Given the description of an element on the screen output the (x, y) to click on. 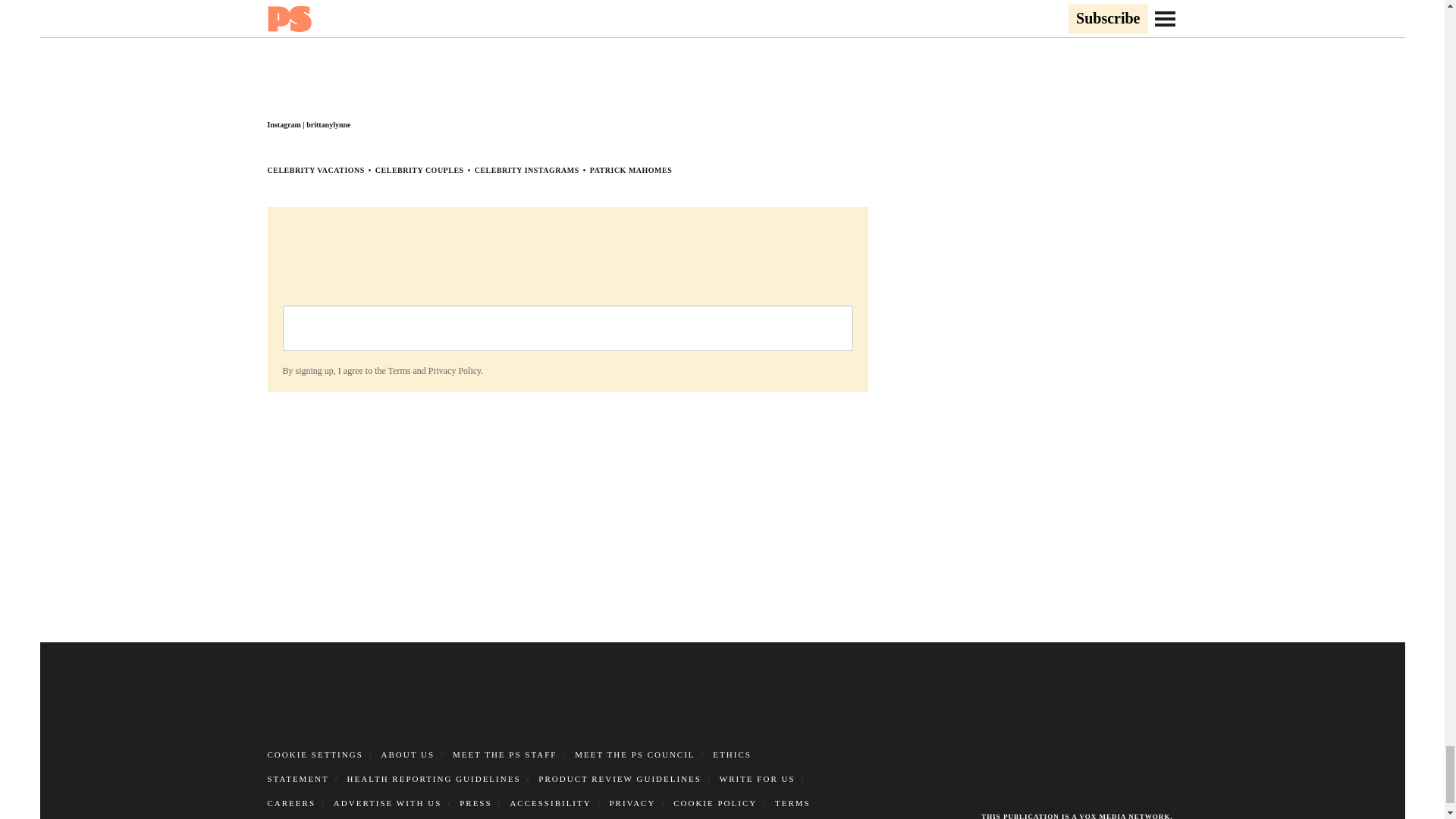
Privacy Policy. (455, 370)
CELEBRITY COUPLES (419, 170)
Terms (399, 370)
PATRICK MAHOMES (630, 170)
CELEBRITY VACATIONS (315, 170)
CELEBRITY INSTAGRAMS (526, 170)
